Given the description of an element on the screen output the (x, y) to click on. 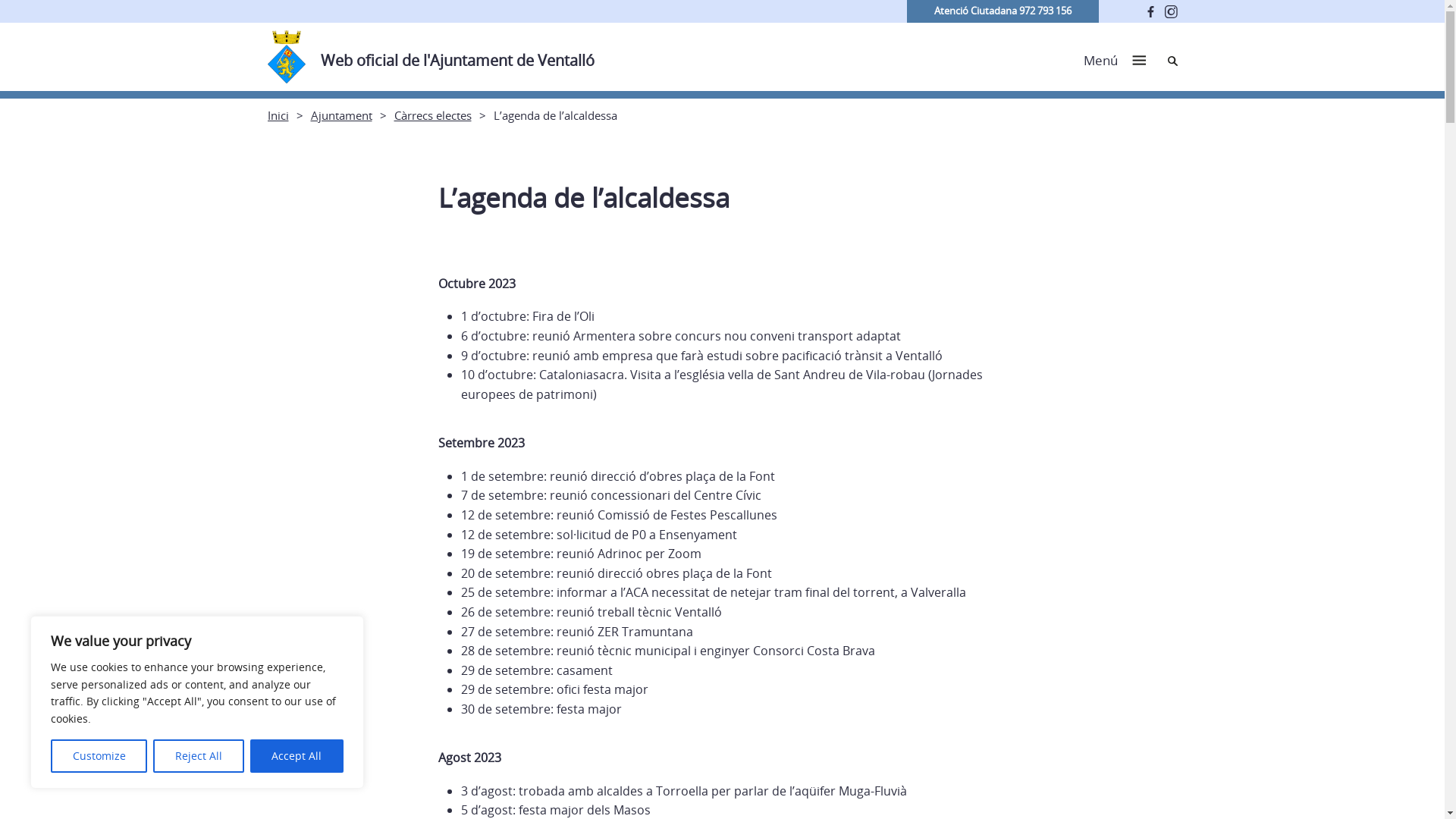
Reject All Element type: text (198, 755)
Customize Element type: text (98, 755)
Cerca Element type: text (1172, 60)
Inici Element type: text (277, 114)
Ajuntament Element type: text (341, 114)
Accept All Element type: text (296, 755)
